Given the description of an element on the screen output the (x, y) to click on. 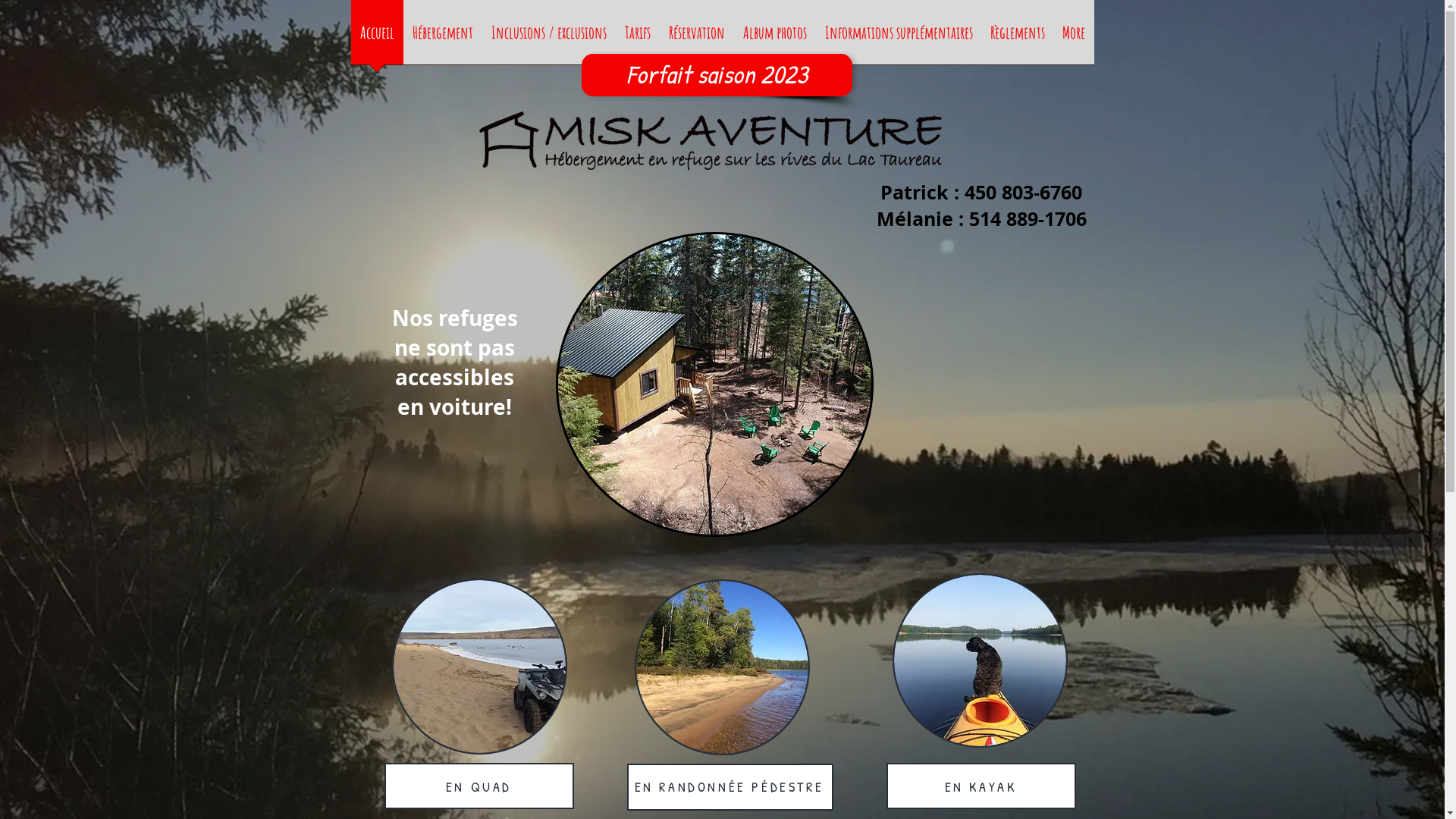
IMG_3379.JPG Element type: hover (721, 667)
Tarifs Element type: text (637, 37)
Forfait saison 2023 Element type: text (715, 74)
En voir plus Element type: text (713, 555)
Accueil Element type: text (376, 37)
IMG_3865.JPG Element type: hover (478, 666)
Logo-Amisk-sans-fond-blanc-pour-web.png Element type: hover (713, 140)
Album photos Element type: text (774, 37)
Inclusions / exclusions Element type: text (548, 37)
IMG_3097.JPG Element type: hover (978, 660)
